Given the description of an element on the screen output the (x, y) to click on. 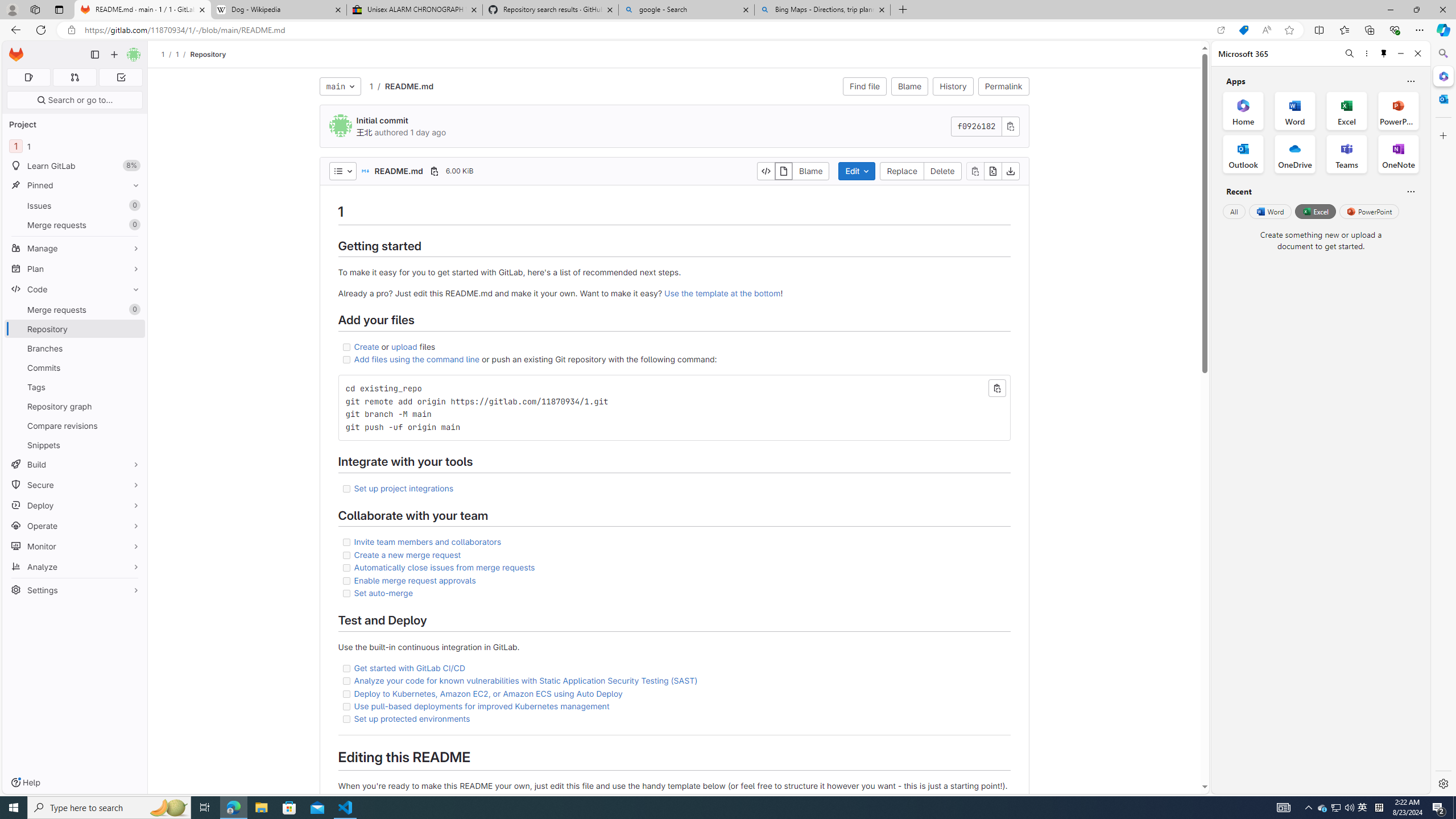
Repository (207, 53)
Shopping in Microsoft Edge (1243, 29)
Compare revisions (74, 425)
1 (370, 85)
Secure (74, 484)
OneDrive Office App (1295, 154)
PowerPoint (1369, 210)
README.md (408, 85)
Edit (857, 171)
